Given the description of an element on the screen output the (x, y) to click on. 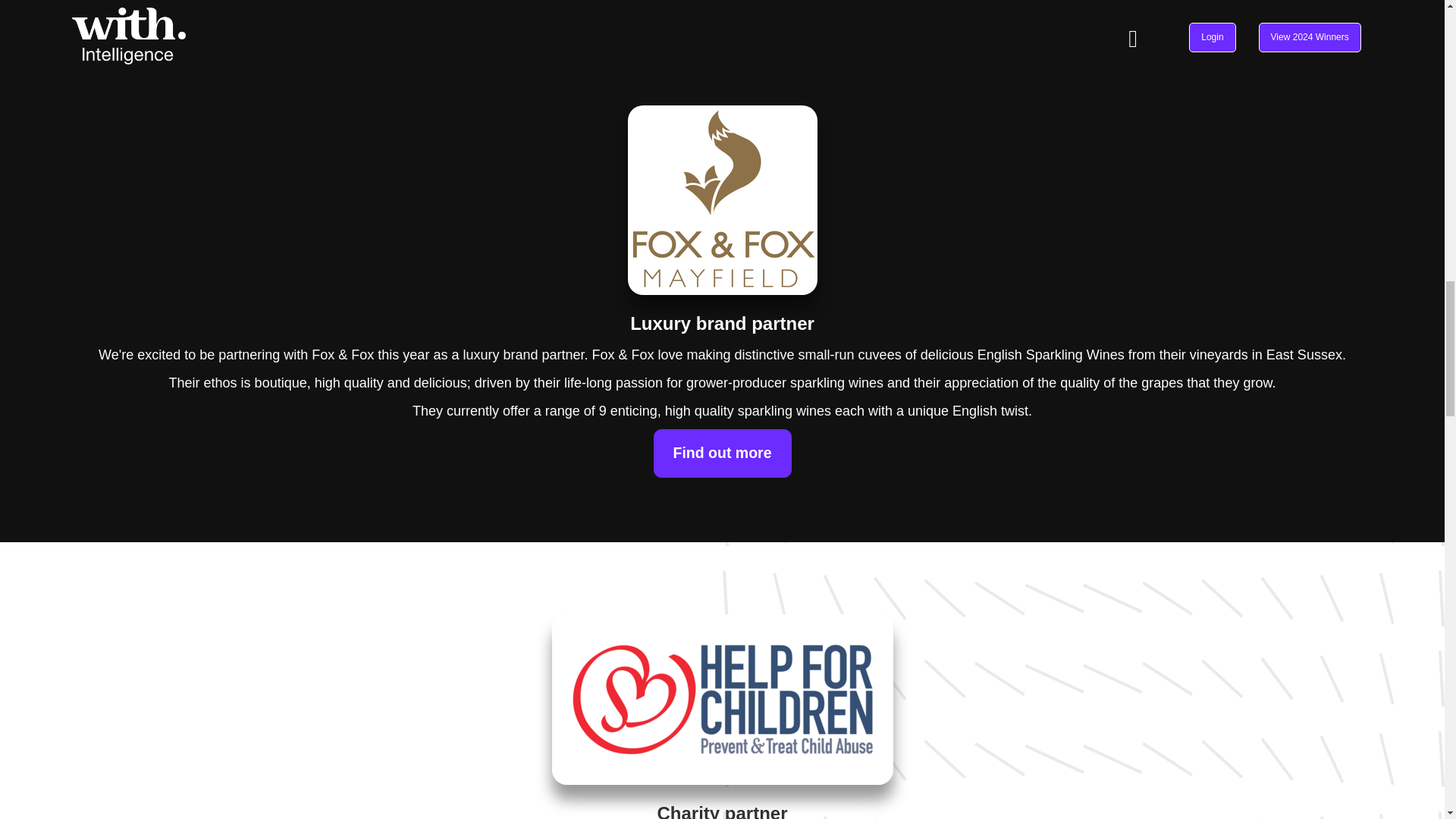
Find out more (722, 453)
